Given the description of an element on the screen output the (x, y) to click on. 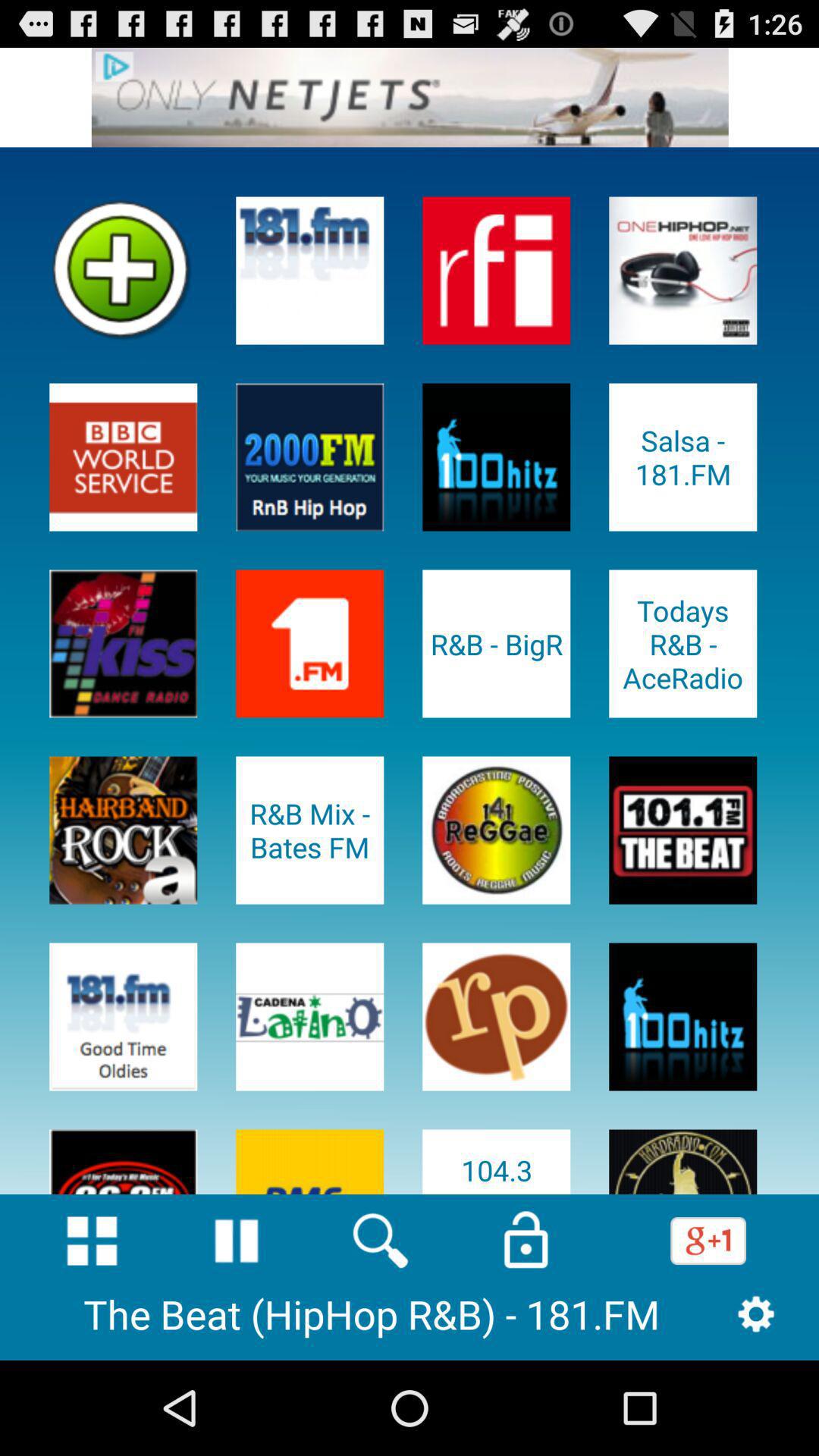
go to search option (380, 1240)
